Given the description of an element on the screen output the (x, y) to click on. 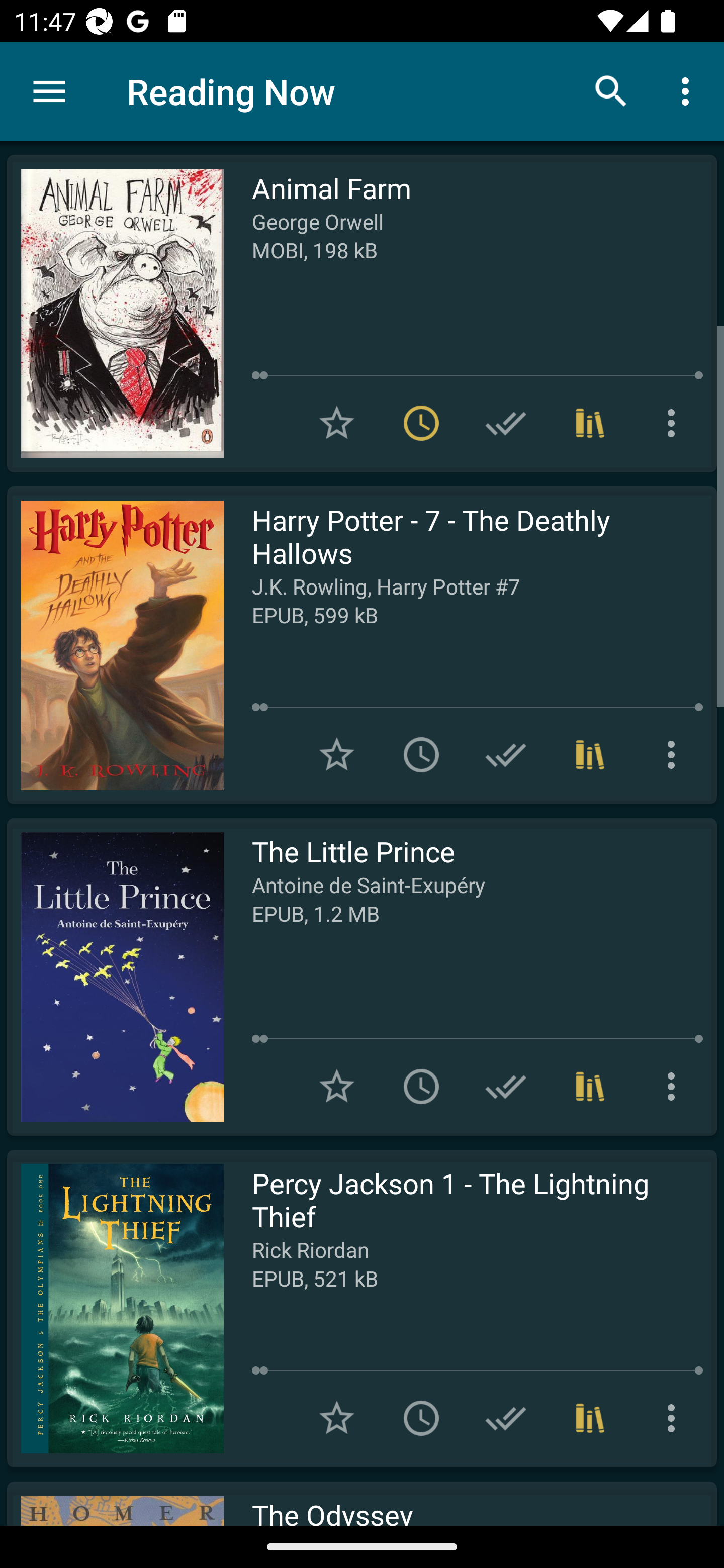
Menu (49, 91)
Search books & documents (611, 90)
More options (688, 90)
Read Animal Farm (115, 313)
Add to Favorites (336, 423)
Remove from To read (421, 423)
Add to Have read (505, 423)
Collections (1) (590, 423)
More options (674, 423)
Read Harry Potter - 7 - The Deathly Hallows (115, 645)
Add to Favorites (336, 753)
Add to To read (421, 753)
Add to Have read (505, 753)
Collections (1) (590, 753)
More options (674, 753)
Read The Little Prince (115, 976)
Add to Favorites (336, 1086)
Add to To read (421, 1086)
Add to Have read (505, 1086)
Collections (1) (590, 1086)
More options (674, 1086)
Read Percy Jackson 1 - The Lightning Thief (115, 1308)
Add to Favorites (336, 1417)
Add to To read (421, 1417)
Add to Have read (505, 1417)
Collections (1) (590, 1417)
More options (674, 1417)
